Given the description of an element on the screen output the (x, y) to click on. 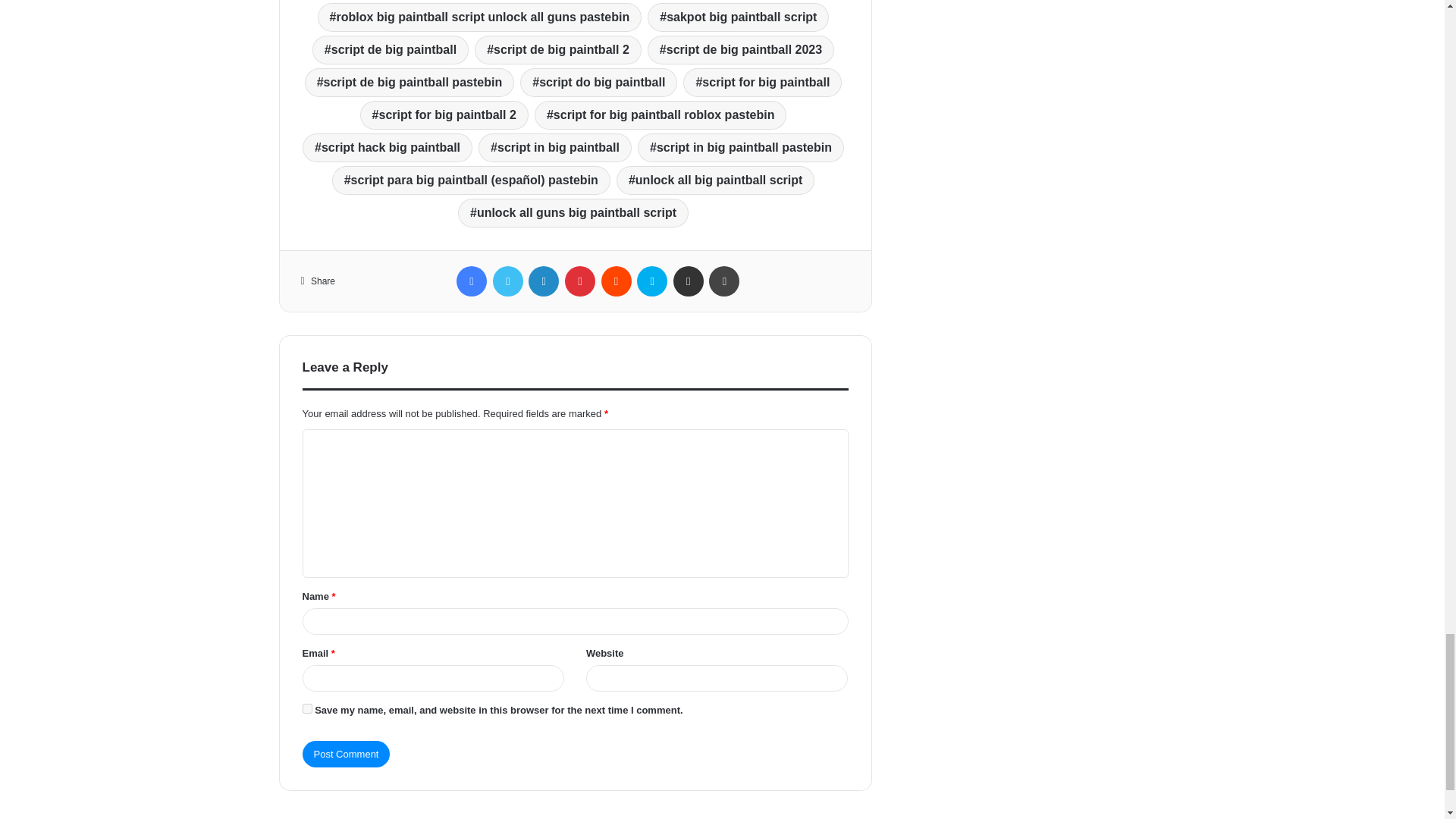
Twitter (507, 281)
Post Comment (345, 754)
yes (306, 708)
Share via Email (687, 281)
Skype (651, 281)
LinkedIn (543, 281)
Facebook (471, 281)
Pinterest (579, 281)
Reddit (616, 281)
Print (724, 281)
